Given the description of an element on the screen output the (x, y) to click on. 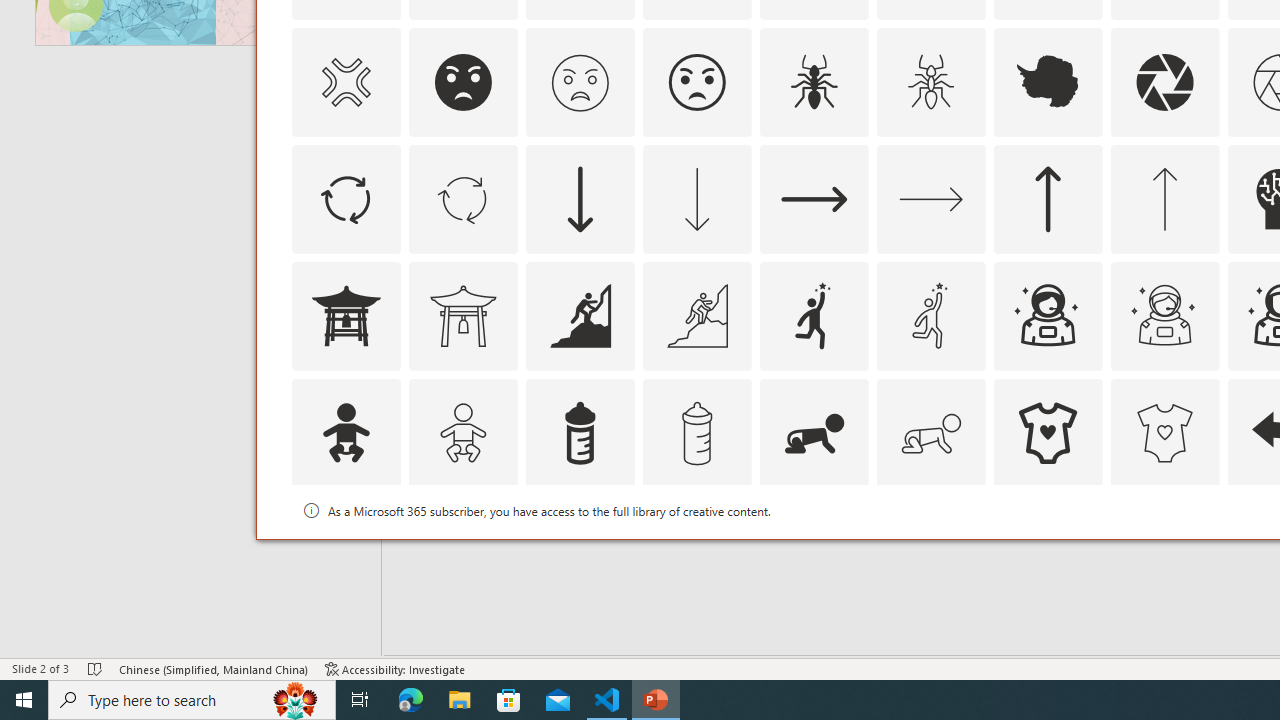
AutomationID: Icons_ArrowCircle_M (463, 198)
Thumbnail (1204, 511)
AutomationID: Icons_Aspiration1_M (930, 316)
AutomationID: Icons_AstronautFemale_M (1164, 316)
AutomationID: Icons_Baby_M (463, 432)
AutomationID: Icons_ArrowRight (813, 198)
AutomationID: Icons_Badge3 (696, 550)
AutomationID: Icons_ArrowUp (1048, 198)
